Given the description of an element on the screen output the (x, y) to click on. 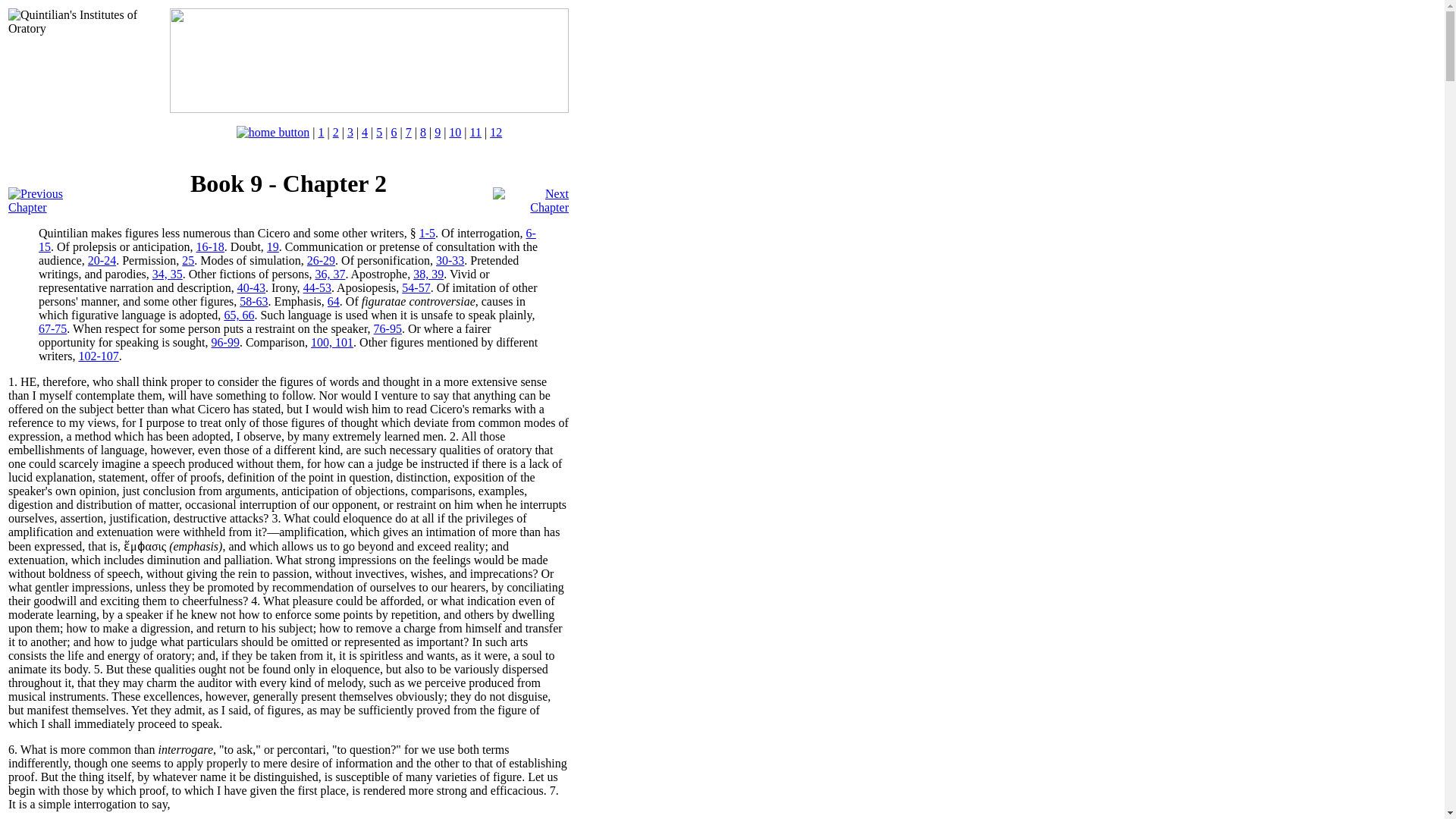
40-43 (250, 287)
34, 35 (167, 273)
67-75 (52, 328)
6-15 (287, 239)
25 (187, 259)
12 (495, 132)
44-53 (316, 287)
96-99 (225, 341)
20-24 (101, 259)
100, 101 (332, 341)
